Given the description of an element on the screen output the (x, y) to click on. 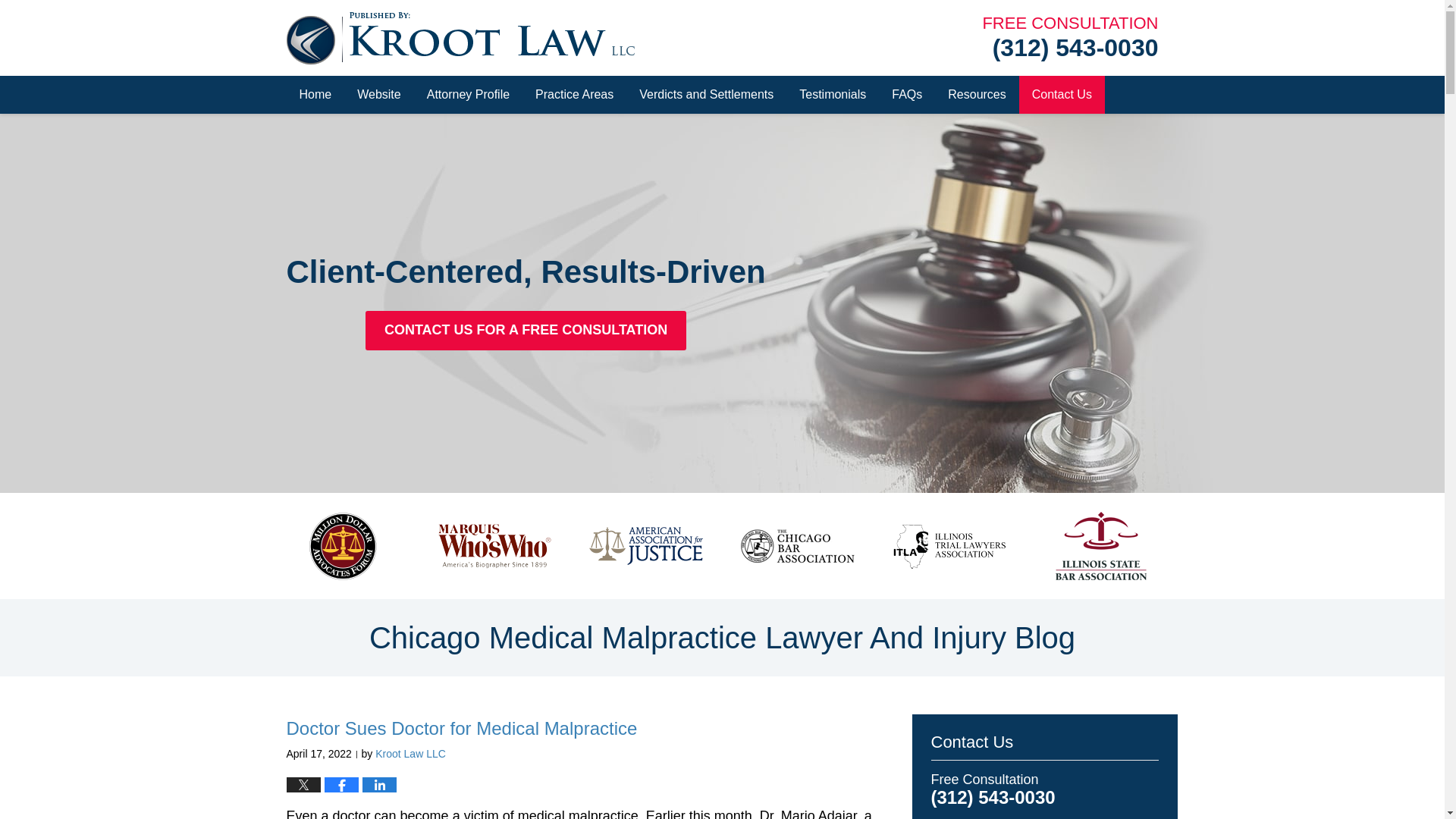
Practice Areas (574, 94)
Website (378, 94)
Chicago Medical Malpractice Lawyer And Injury Blog (722, 637)
FAQs (906, 94)
Permalink to Doctor Sues Doctor for Medical Malpractice (461, 728)
Home (315, 94)
CONTACT US FOR A FREE CONSULTATION (525, 330)
Resources (975, 94)
Kroot Law LLC (410, 753)
Verdicts and Settlements (706, 94)
FREE CONSULTATION (1069, 23)
Contact Us (1062, 94)
Testimonials (832, 94)
Attorney Profile (467, 94)
Doctor Sues Doctor for Medical Malpractice (461, 728)
